Given the description of an element on the screen output the (x, y) to click on. 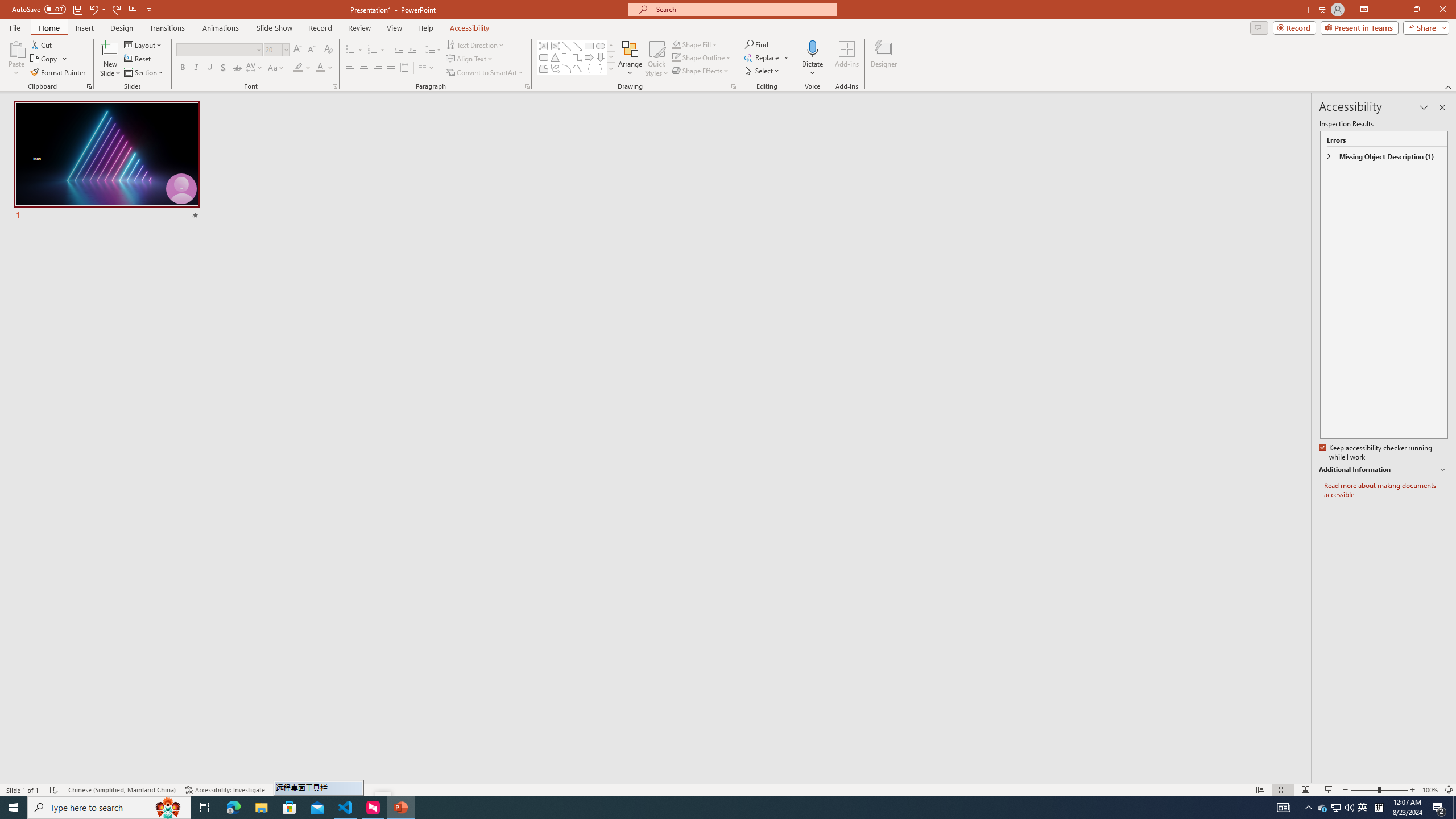
Read more about making documents accessible (1385, 489)
Section (144, 72)
Increase Indent (412, 49)
Left Brace (589, 68)
Distributed (404, 67)
